Given the description of an element on the screen output the (x, y) to click on. 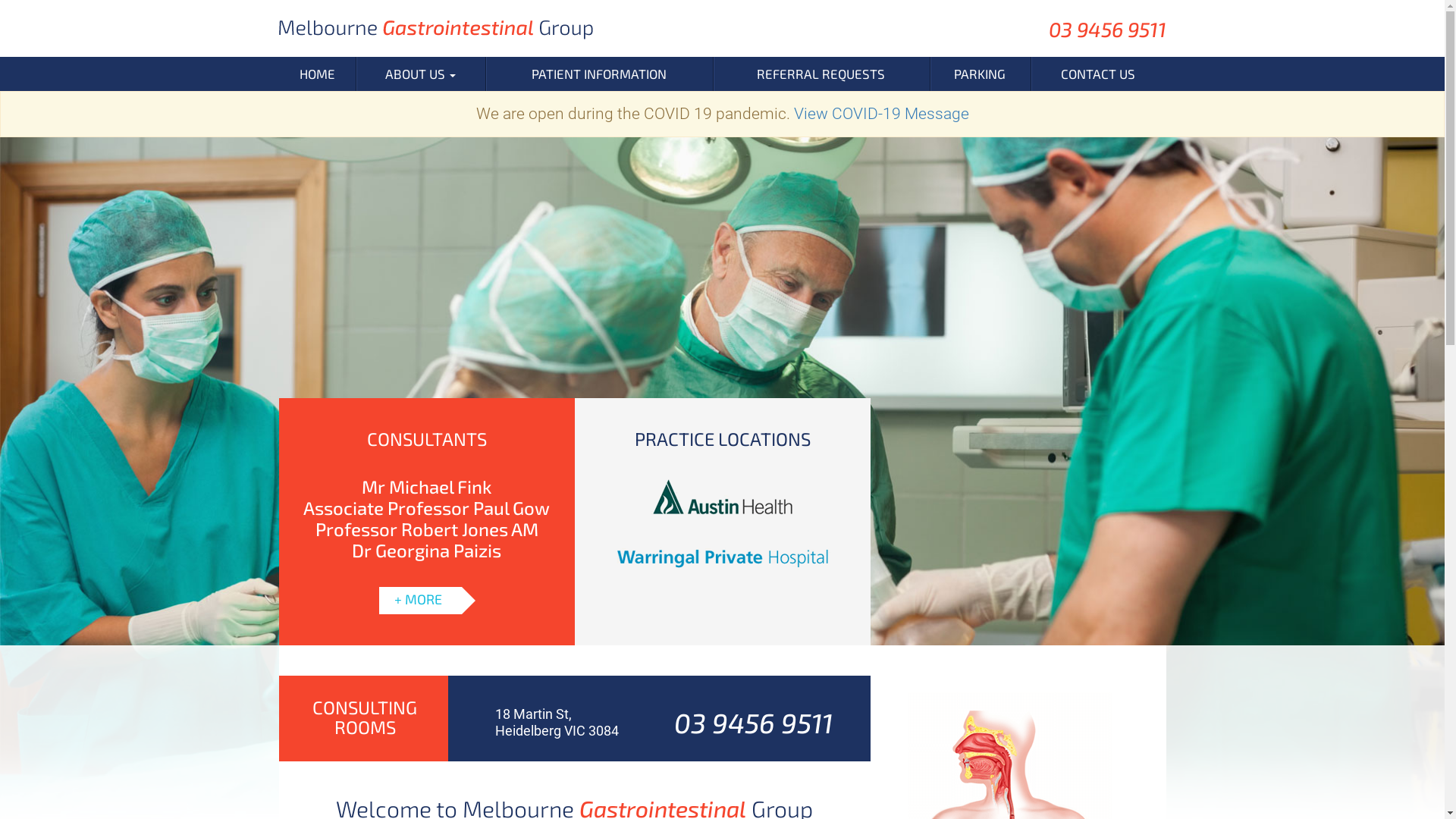
MORE Element type: text (426, 593)
PATIENT INFORMATION Element type: text (598, 73)
ABOUT US Element type: text (420, 73)
CONTACT US Element type: text (1098, 73)
03 9456 9511 Element type: text (753, 722)
PARKING Element type: text (979, 73)
REFERRAL REQUESTS Element type: text (820, 73)
03 9456 9511 Element type: text (1106, 28)
HOME Element type: text (317, 73)
View COVID-19 Message Element type: text (880, 113)
